Given the description of an element on the screen output the (x, y) to click on. 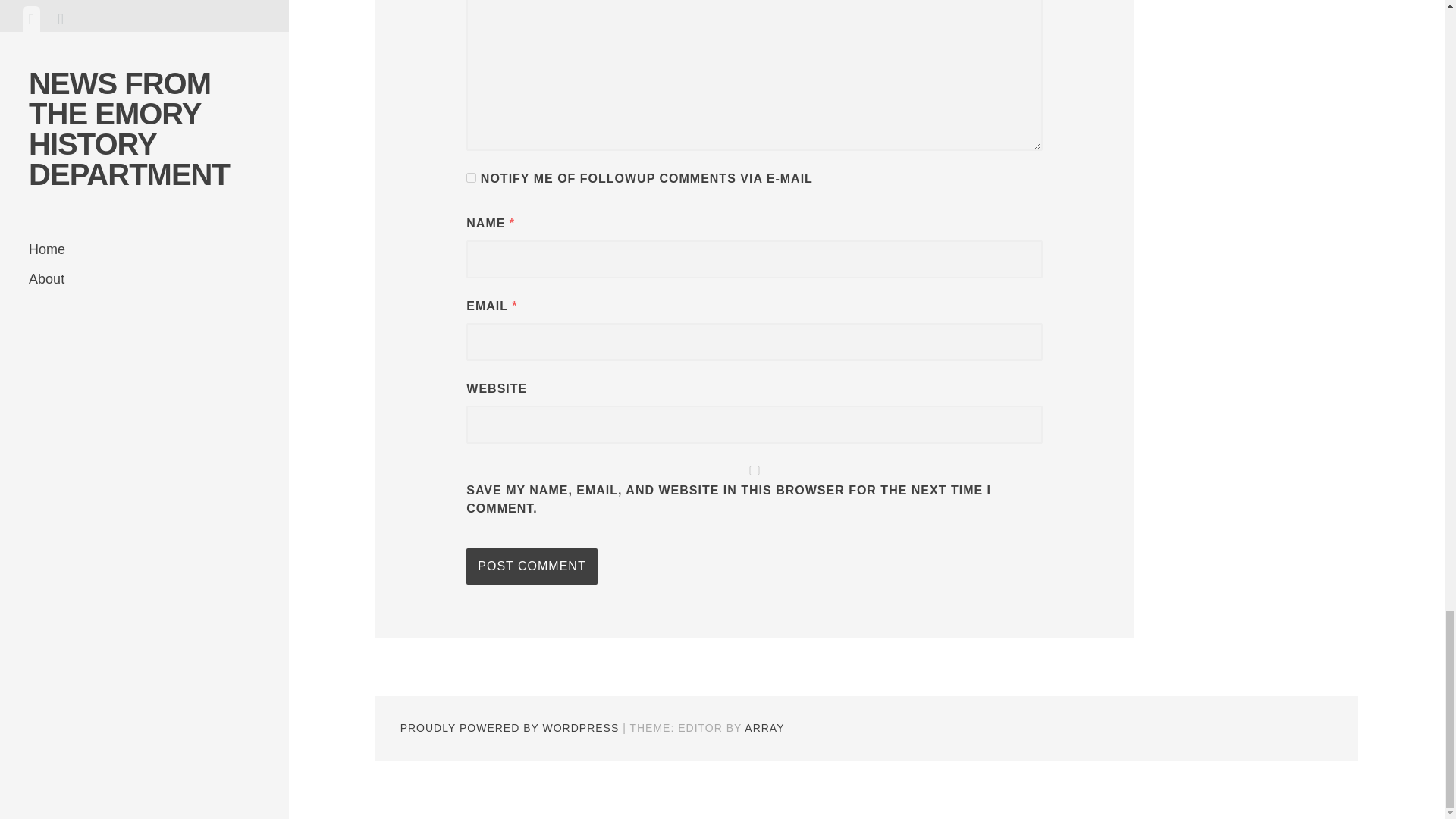
Post Comment (530, 565)
yes (753, 470)
subscribe (470, 177)
